Given the description of an element on the screen output the (x, y) to click on. 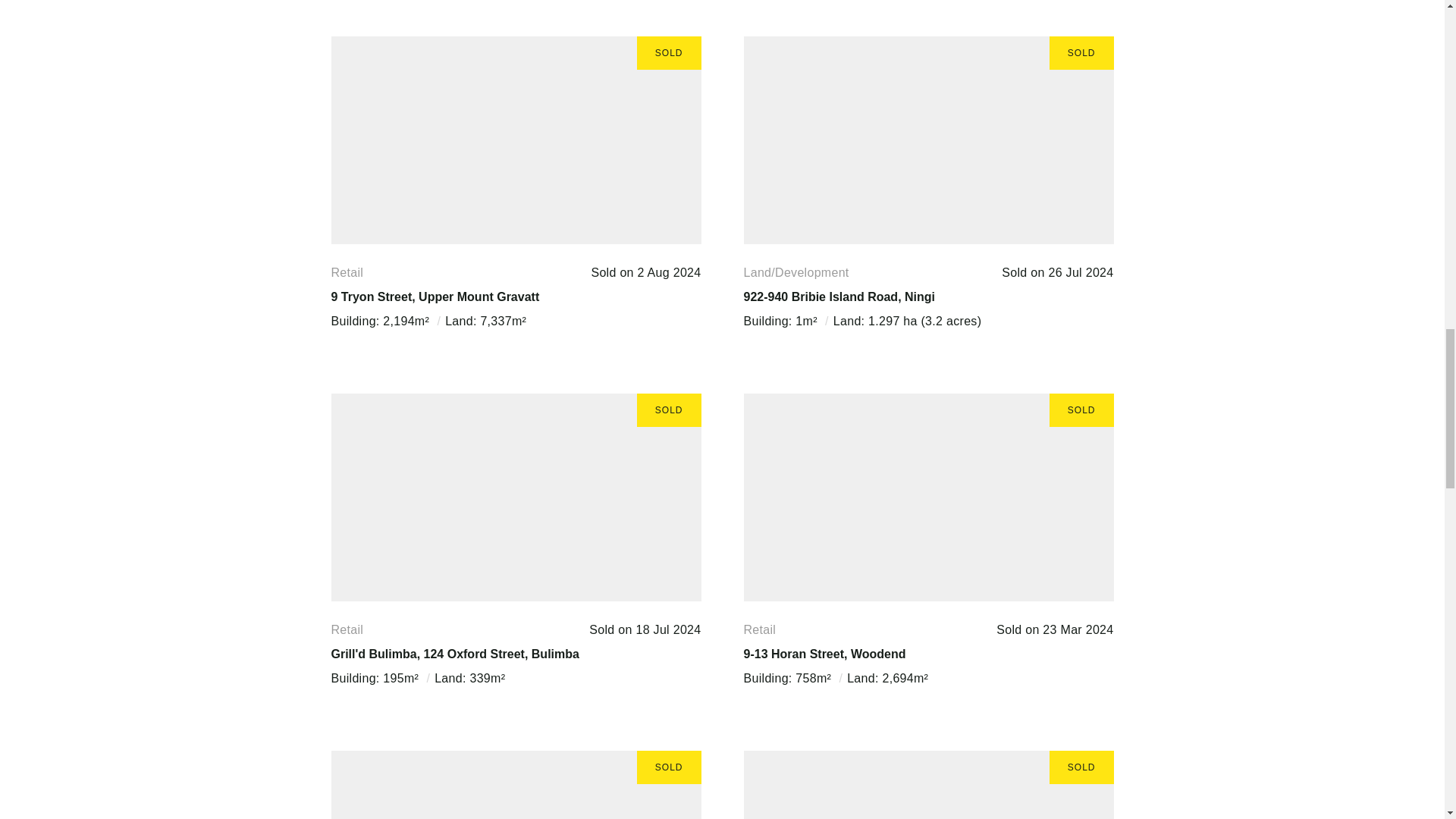
9-13 Horan Street, Woodend (823, 653)
SOLD (515, 497)
SOLD (927, 785)
SOLD (515, 140)
Grill'd Bulimba, 124 Oxford Street, Bulimba (454, 653)
SOLD (927, 140)
SOLD (927, 497)
9 Tryon Street, Upper Mount Gravatt (434, 296)
SOLD (515, 785)
922-940 Bribie Island Road, Ningi (838, 296)
